Given the description of an element on the screen output the (x, y) to click on. 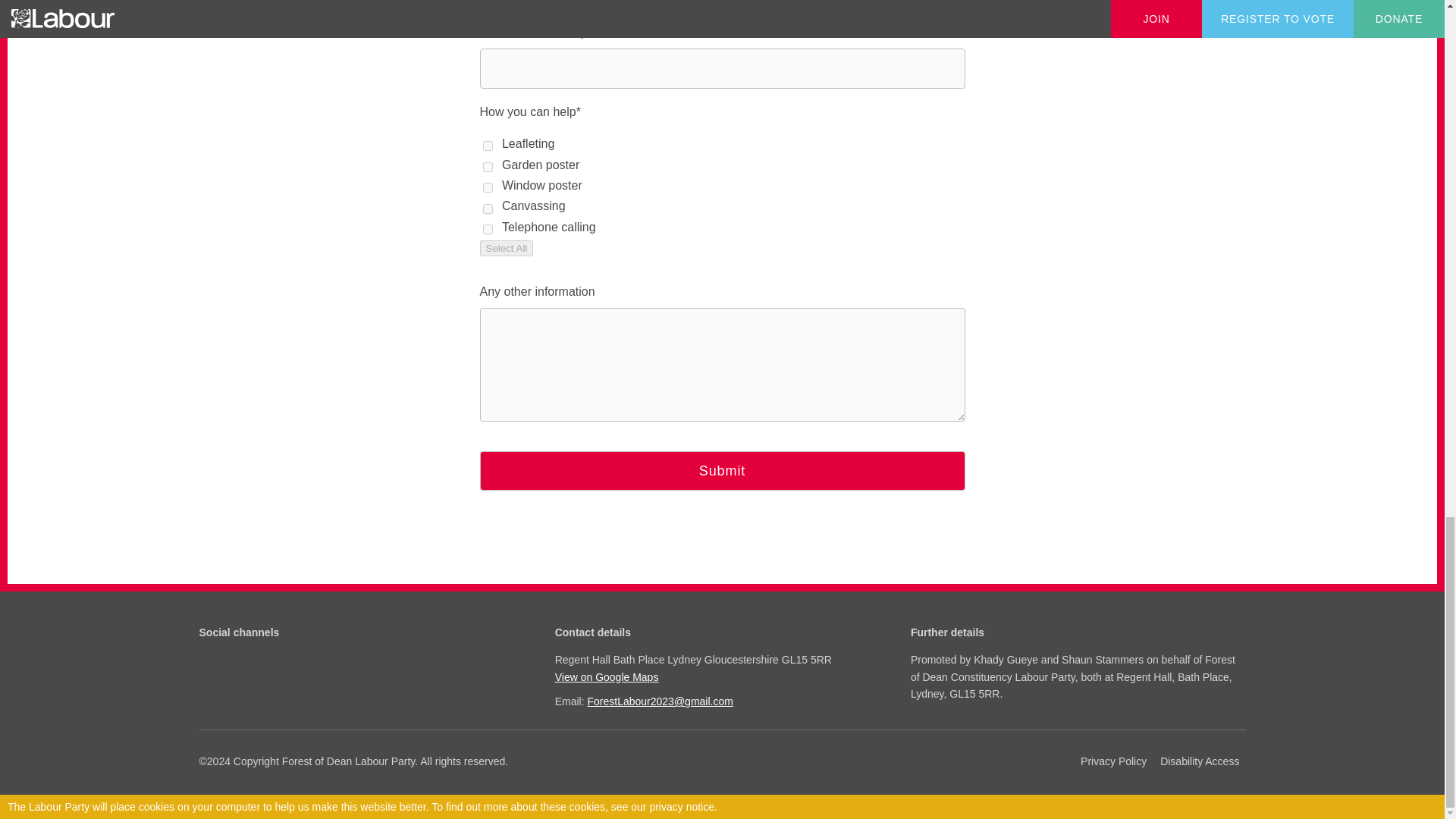
Leafleting (486, 145)
Telephone  calling (486, 229)
Submit (721, 470)
Garden poster (486, 166)
Submit (721, 470)
Canvassing (486, 208)
Privacy Policy (1113, 761)
Disability Access (1199, 761)
View on Google Maps (719, 677)
Window poster (486, 187)
Select All (505, 248)
